Given the description of an element on the screen output the (x, y) to click on. 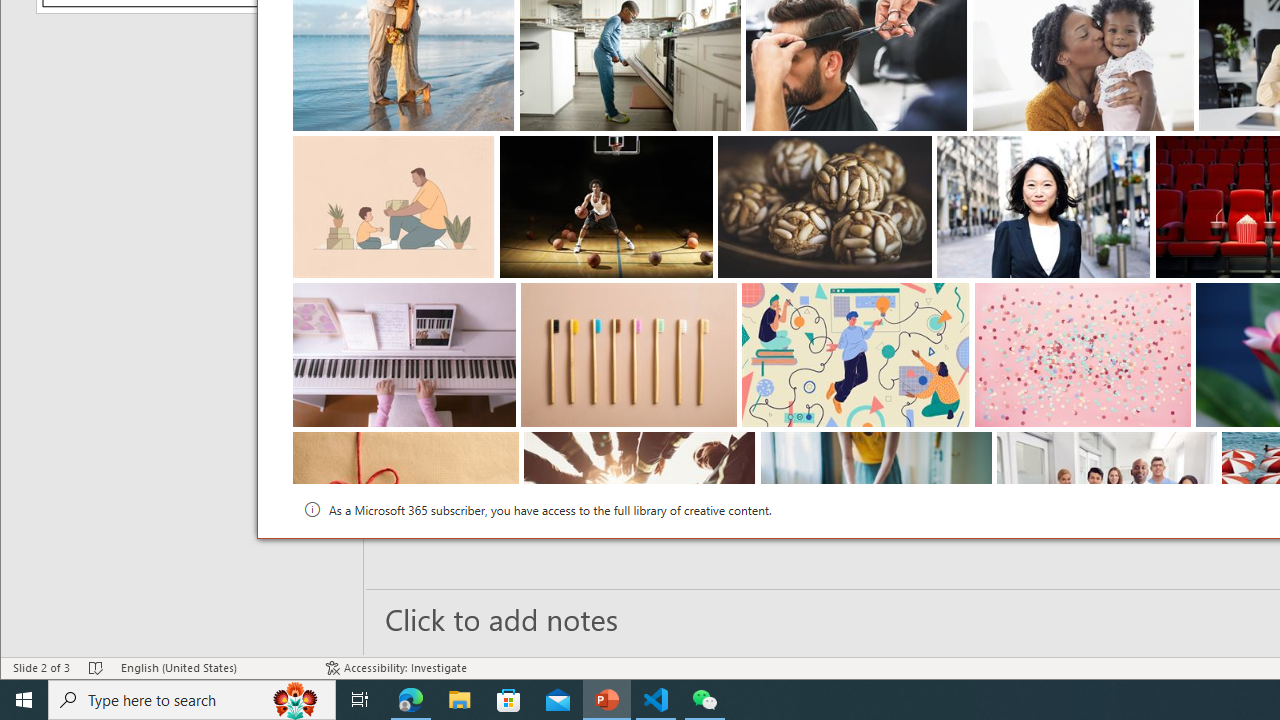
Thumbnail (1201, 447)
WeChat - 1 running window (704, 699)
